Given the description of an element on the screen output the (x, y) to click on. 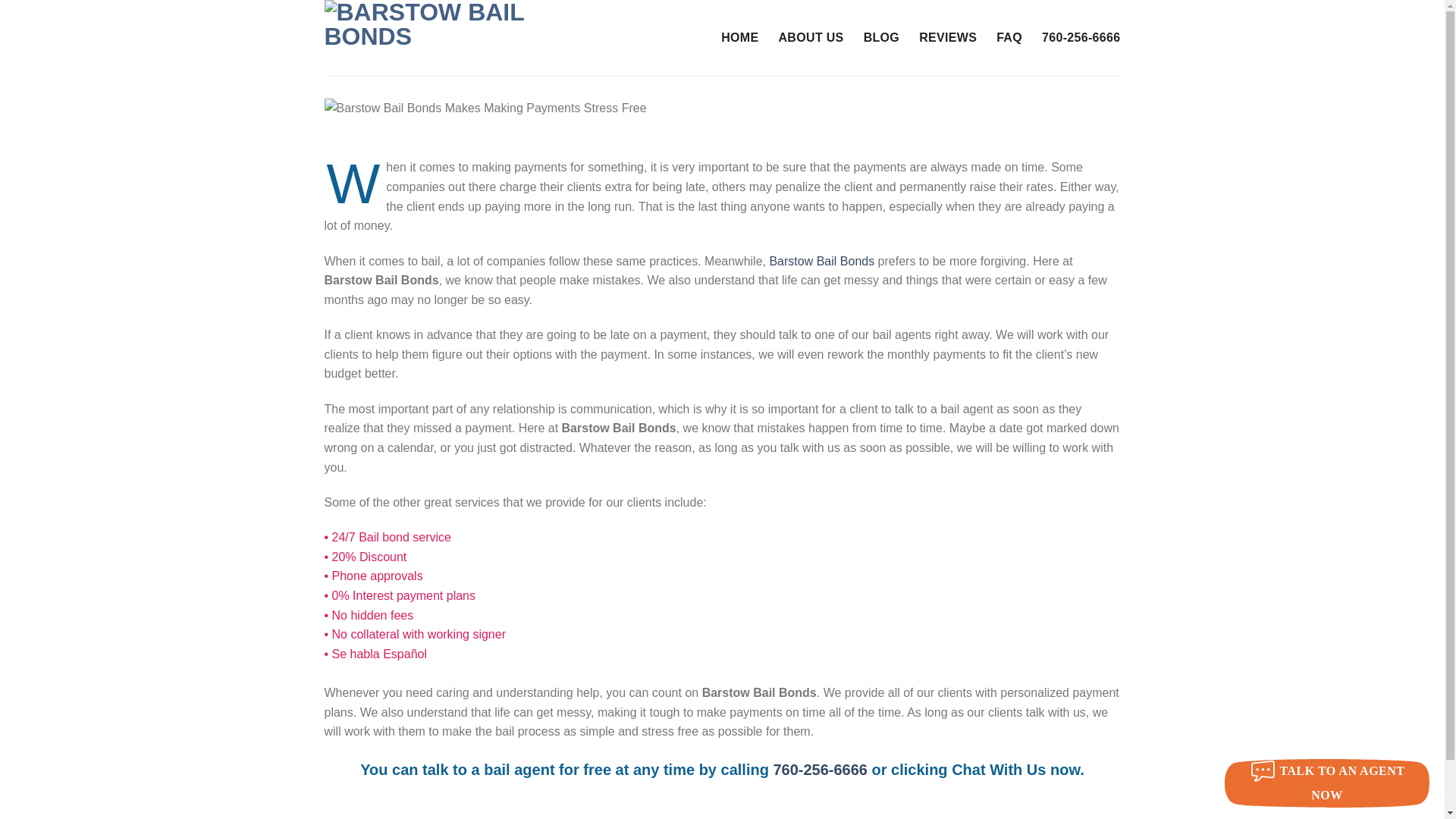
BLOG (881, 37)
760-256-6666 (820, 769)
Barstow Bail Bonds (821, 260)
REVIEWS (947, 37)
HOME (739, 37)
ABOUT US (810, 37)
TALK TO AN AGENT NOW (1326, 783)
Barstow Bail Bonds (464, 38)
Barstow Bail Bonds (821, 260)
760-256-6666 (1080, 37)
